Given the description of an element on the screen output the (x, y) to click on. 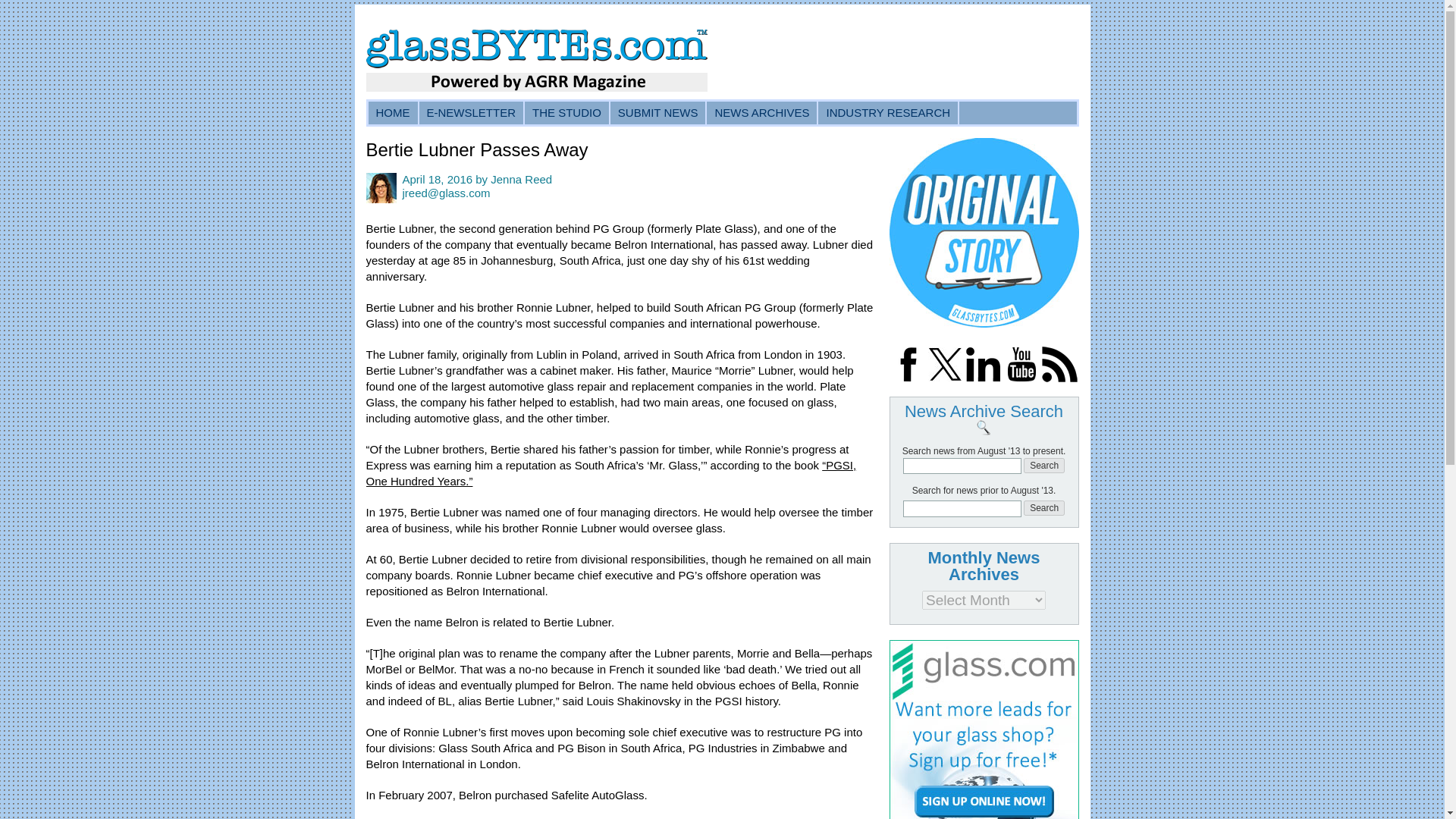
Subscribe to this site using RSS (1059, 378)
View all posts by Jenna Reed (520, 178)
E-NEWSLETTER (471, 112)
HOME (393, 112)
SUBMIT NEWS (658, 112)
NEWS ARCHIVES (762, 112)
Search (1043, 507)
April 18, 2016 (436, 178)
INDUSTRY RESEARCH (888, 112)
THE STUDIO (567, 112)
